Given the description of an element on the screen output the (x, y) to click on. 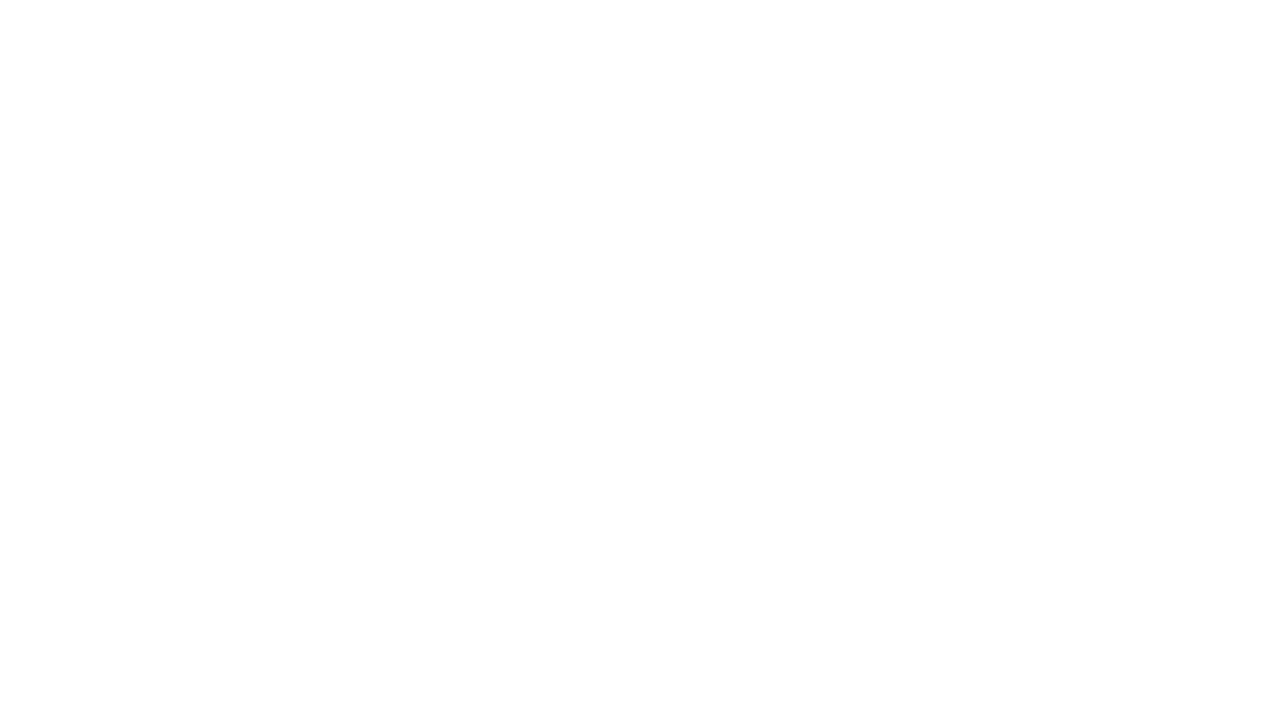
Open (263, 58)
Find what (132, 58)
Replace with (142, 96)
Close (263, 95)
Replace with (132, 95)
Find what (142, 58)
